Given the description of an element on the screen output the (x, y) to click on. 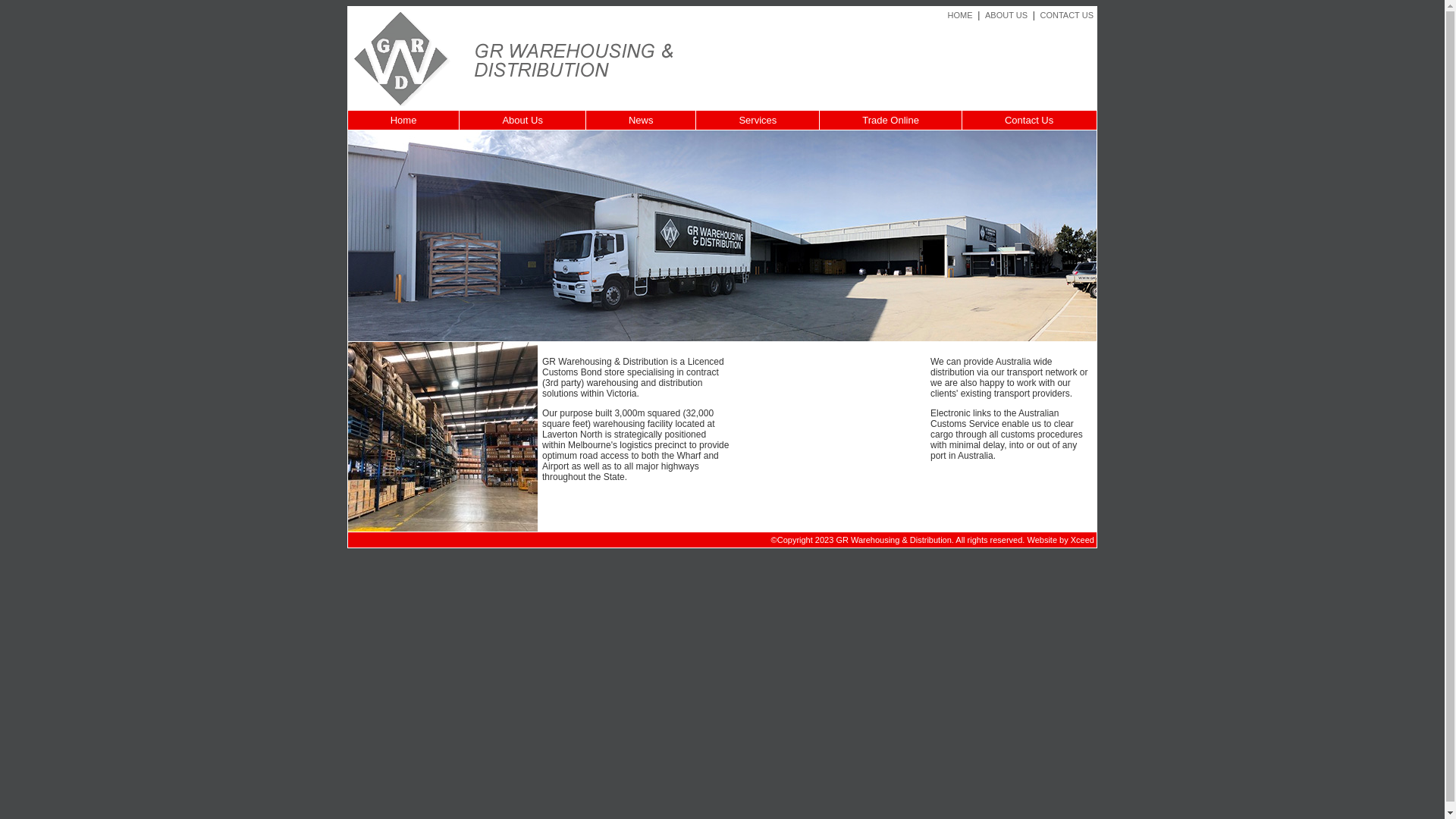
News Element type: text (641, 119)
Contact Us Element type: text (1029, 119)
Home Element type: text (404, 119)
CONTACT US Element type: text (1066, 14)
Xceed Element type: text (1082, 539)
ABOUT US Element type: text (1006, 14)
Services Element type: text (757, 119)
Trade Online Element type: text (890, 119)
HOME Element type: text (959, 14)
About Us Element type: text (522, 119)
